Given the description of an element on the screen output the (x, y) to click on. 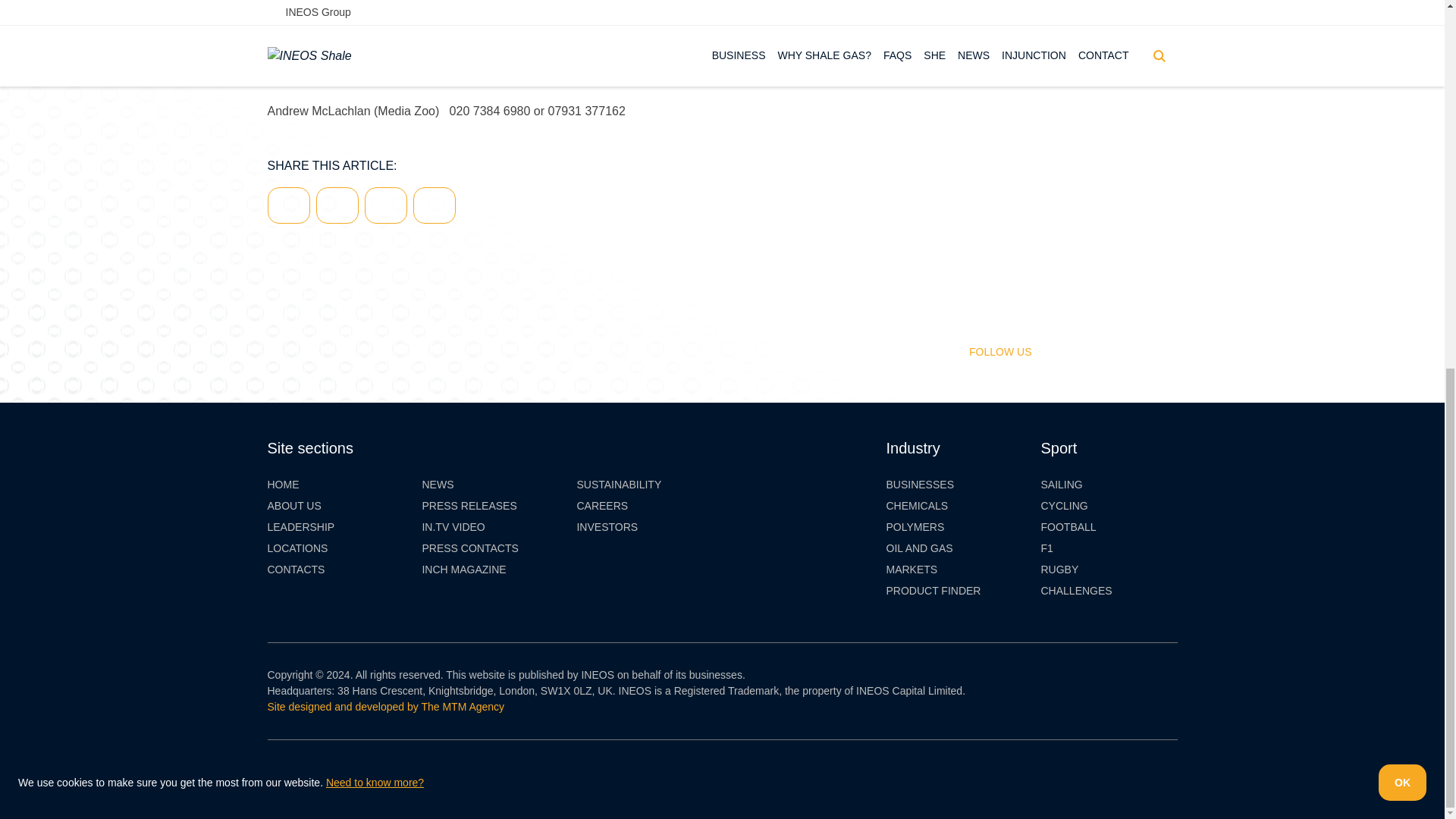
LEADERSHIP (300, 527)
NEWS (437, 484)
PRESS CONTACTS (470, 548)
LOCATIONS (296, 548)
HOME (282, 484)
ABOUT US (293, 505)
IN.TV VIDEO (453, 527)
Site designed and developed by The MTM Agency (384, 706)
CONTACTS (295, 569)
READ MORE (1069, 14)
